Given the description of an element on the screen output the (x, y) to click on. 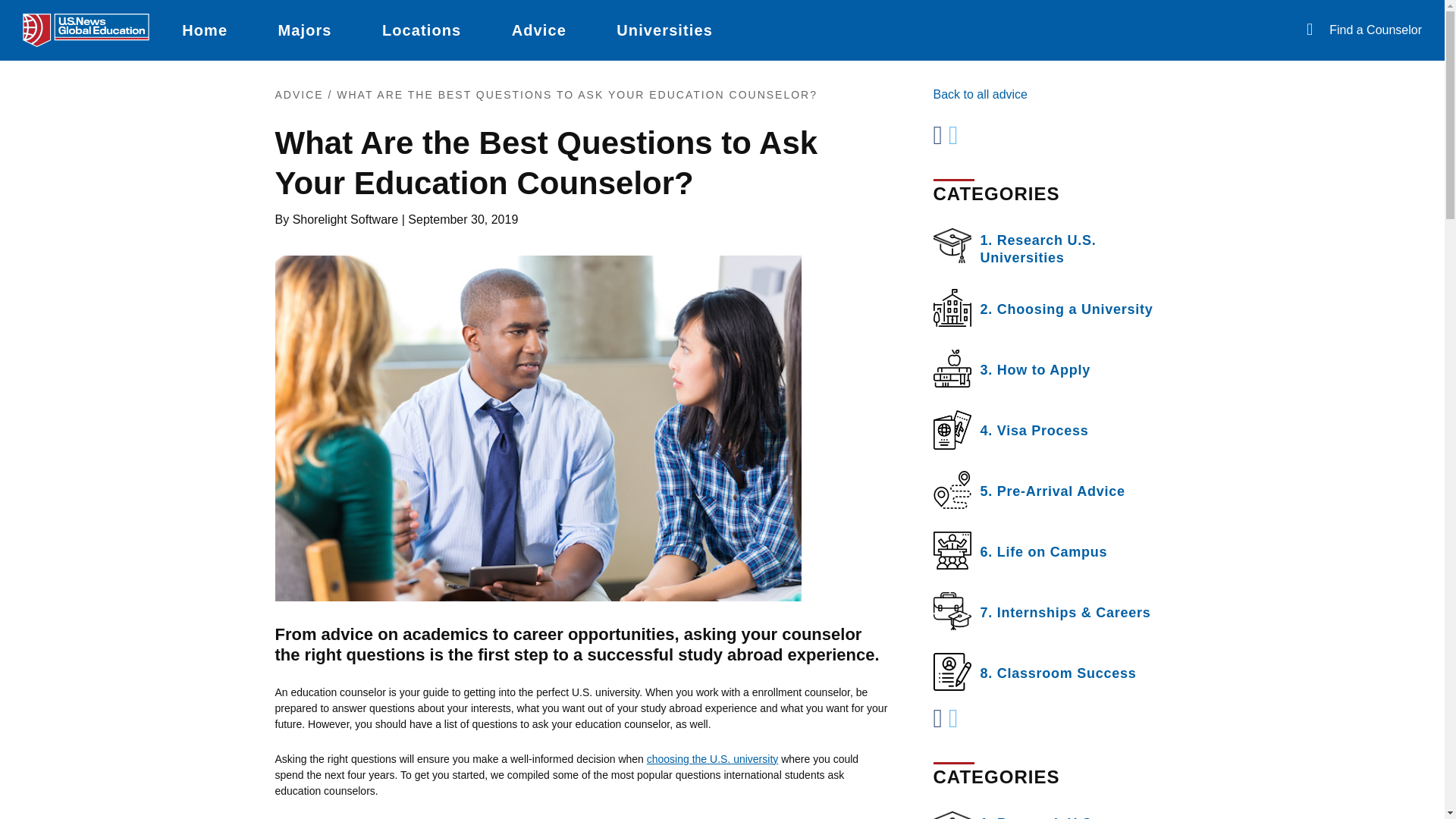
2. Choosing a University (1051, 307)
1. Research U.S. Universities (1051, 247)
Go to Advice. (299, 94)
8. Classroom Success (1051, 671)
4. Visa Process (1051, 428)
Universities (664, 30)
Back to all advice (980, 93)
U.S. News Global Education (86, 29)
Advice (539, 30)
Home (204, 30)
